Given the description of an element on the screen output the (x, y) to click on. 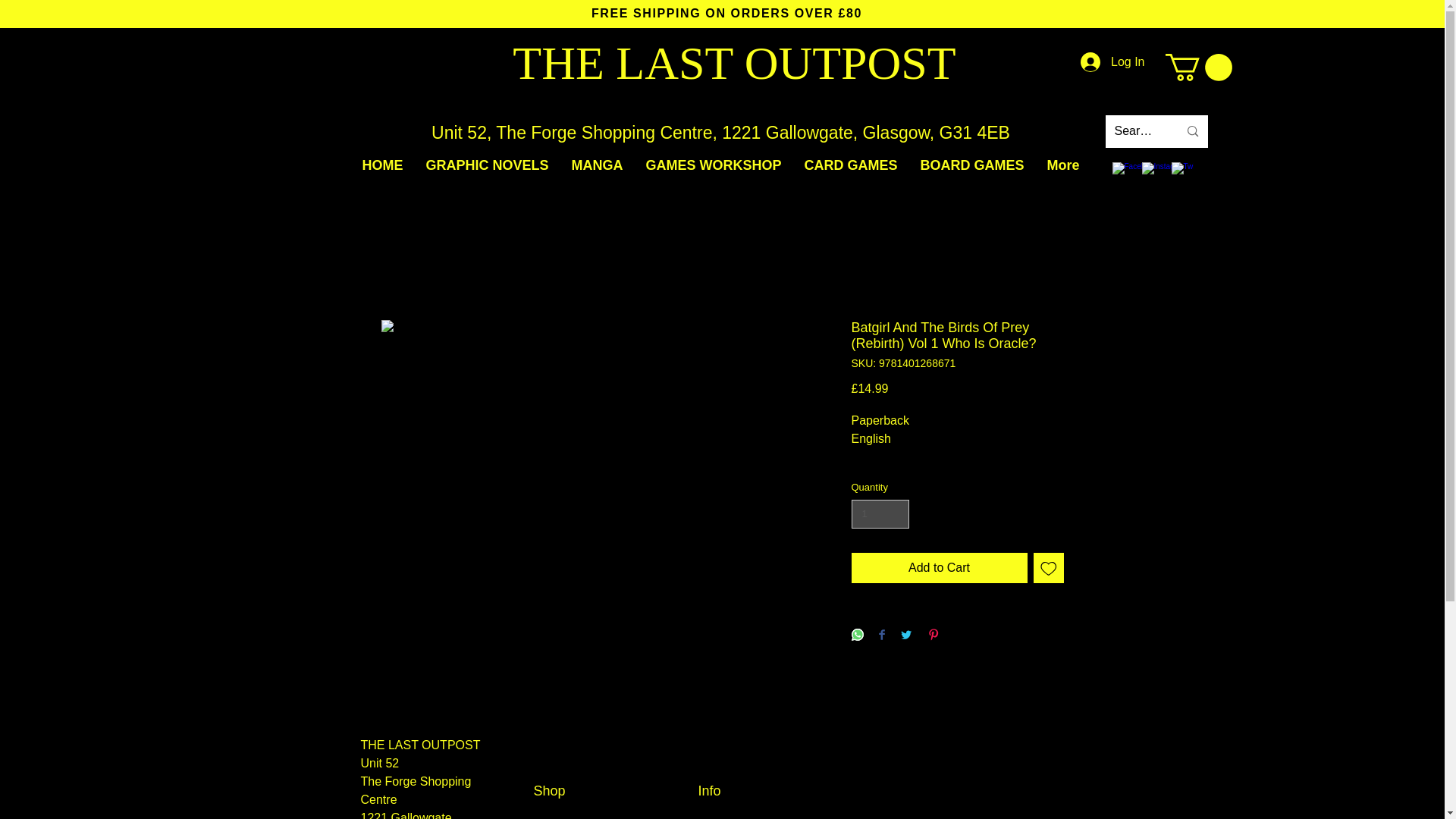
GAMES WORKSHOP (712, 165)
1 (879, 513)
CARD GAMES (850, 165)
THE LAST OUTPOST (733, 62)
FREE SHIPPING ON ORDER (685, 12)
Log In (1112, 61)
MANGA (596, 165)
GRAPHIC NOVELS (486, 165)
HOME (381, 165)
BOARD GAMES (971, 165)
